Given the description of an element on the screen output the (x, y) to click on. 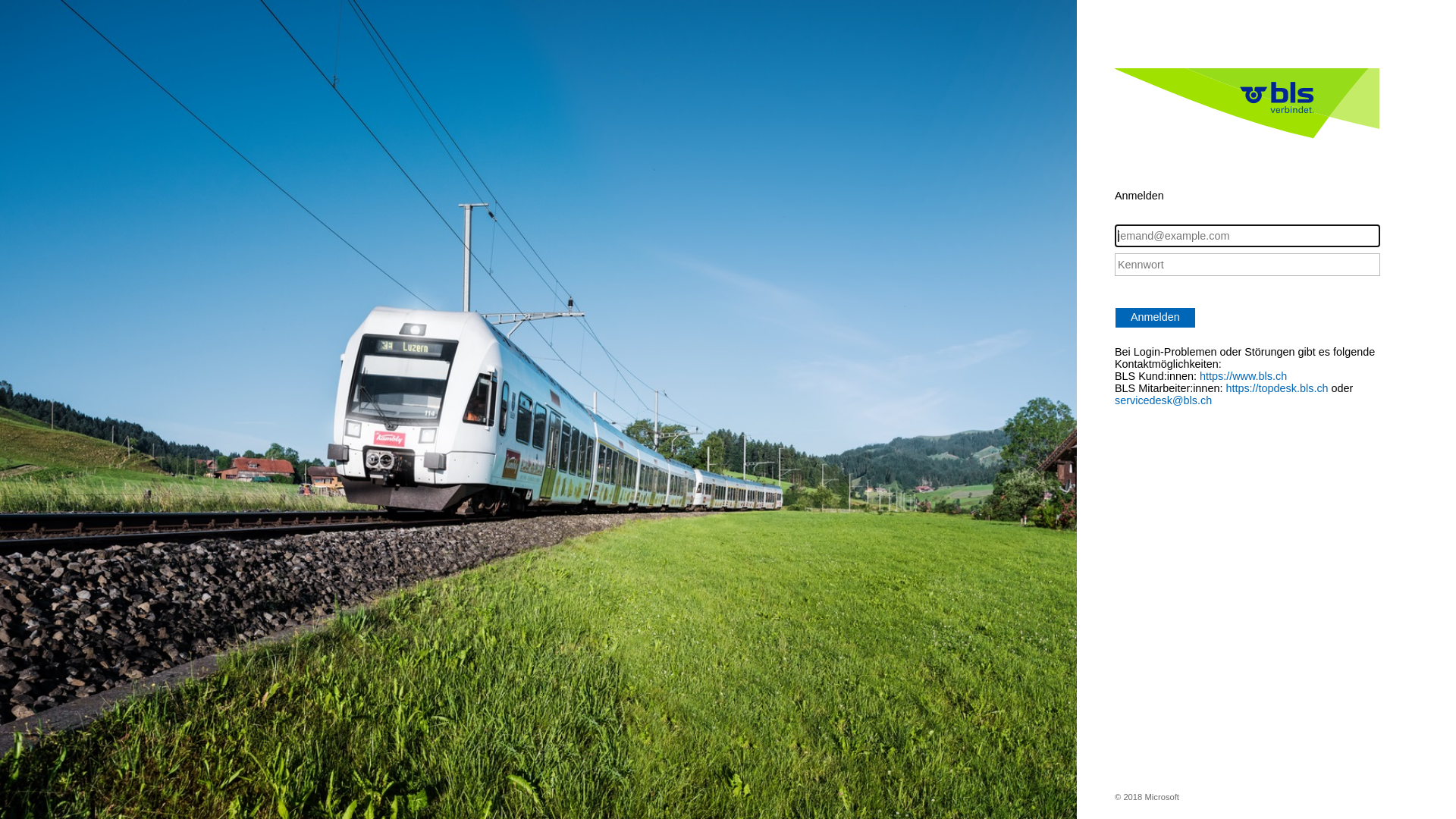
https://www.bls.ch Element type: text (1242, 376)
servicedesk@bls.ch Element type: text (1162, 400)
https://topdesk.bls.ch Element type: text (1276, 388)
Anmelden Element type: text (1154, 317)
